Given the description of an element on the screen output the (x, y) to click on. 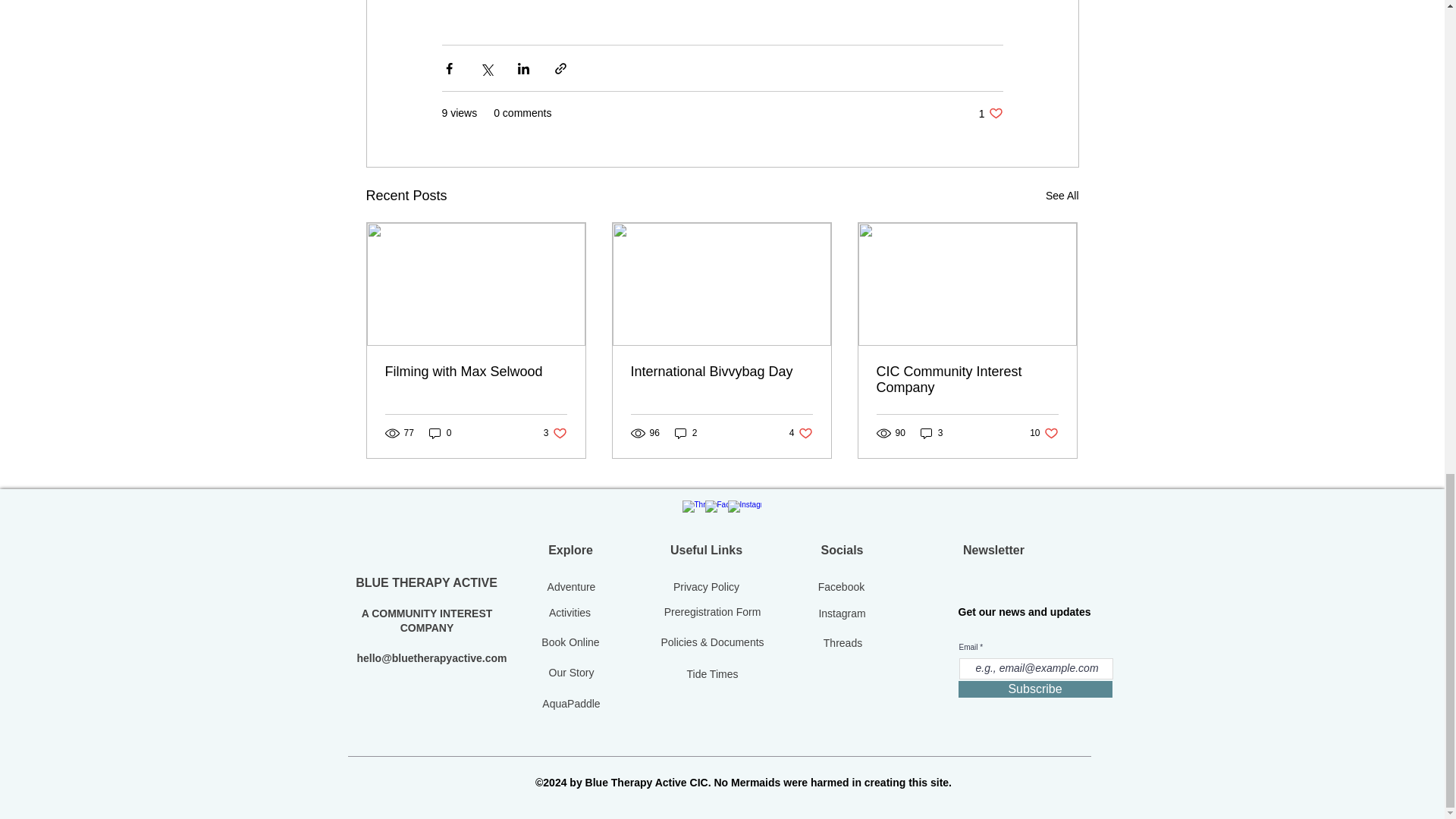
2 (685, 432)
Adventure (570, 587)
CIC Community Interest Company (967, 379)
0 (440, 432)
International Bivvybag Day (721, 371)
Filming with Max Selwood (476, 371)
Activities (569, 613)
See All (1043, 432)
